Given the description of an element on the screen output the (x, y) to click on. 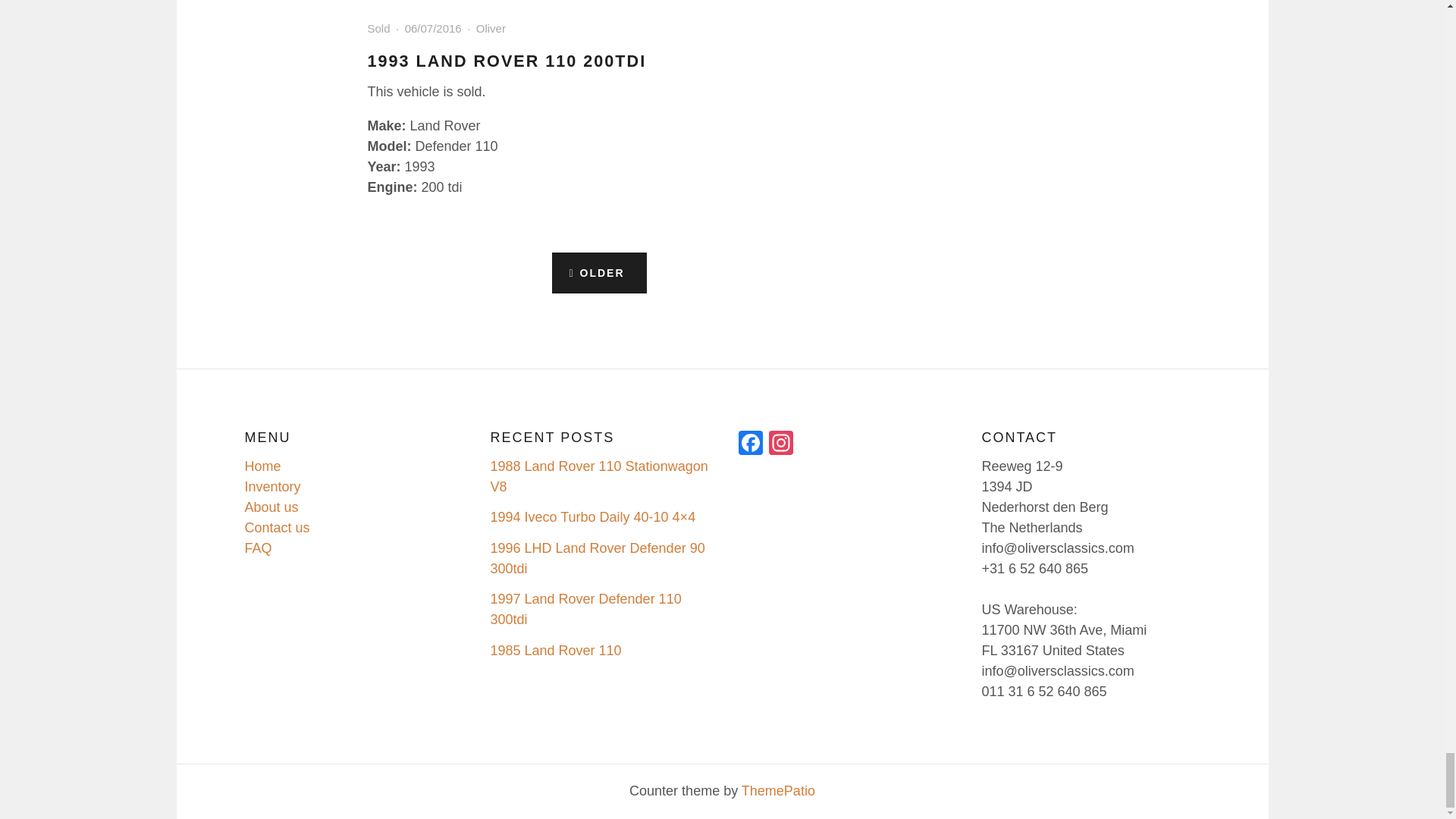
Instagram (780, 444)
Facebook (750, 444)
